Given the description of an element on the screen output the (x, y) to click on. 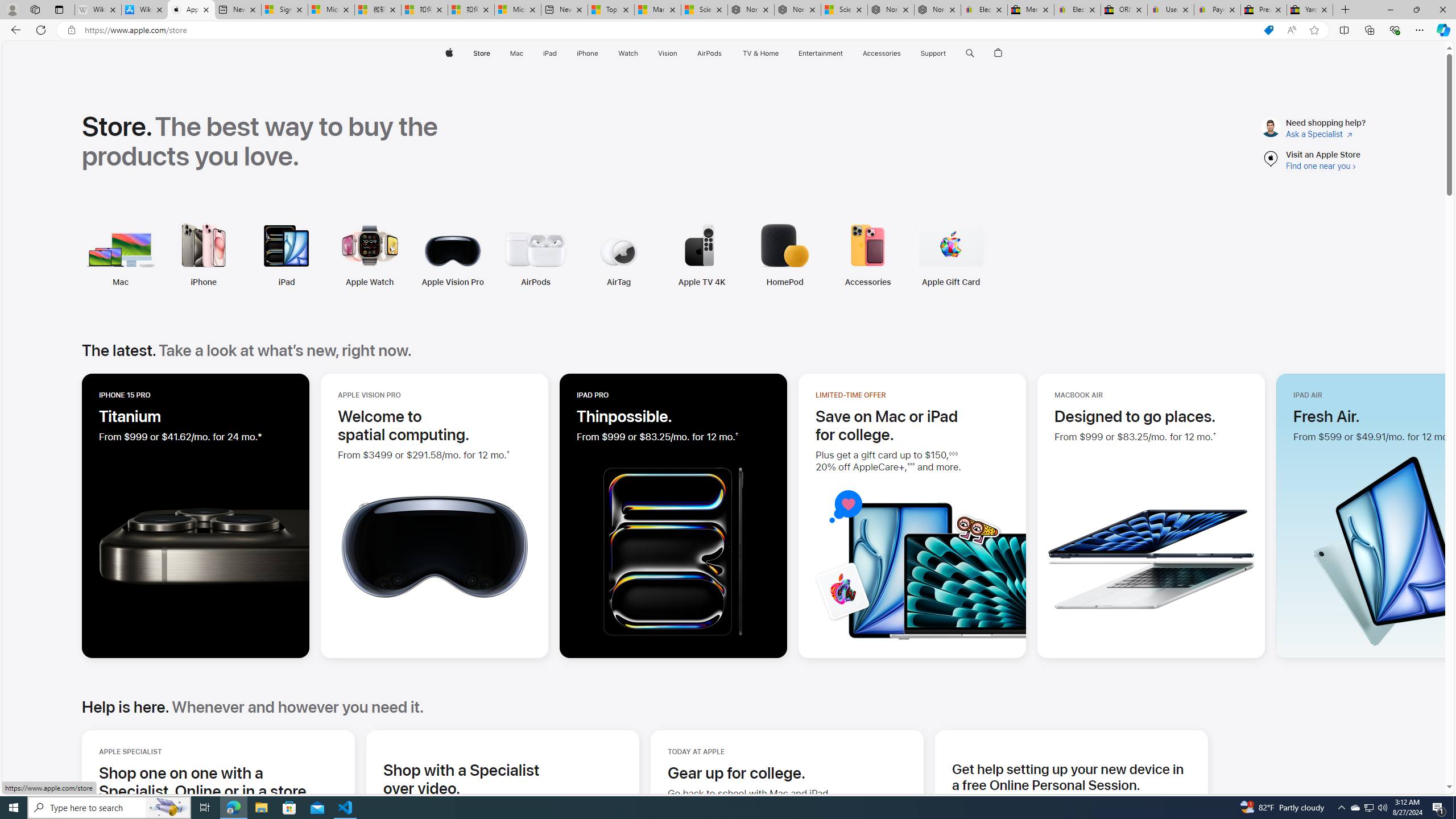
Support menu (948, 53)
Apple Store Online - Apple (191, 9)
Apple Gift Card (913, 254)
iPad (209, 254)
Press Room - eBay Inc. (1263, 9)
Store (481, 53)
AutomationID: globalnav-bag (998, 53)
Designed to go places. (1134, 416)
